Given the description of an element on the screen output the (x, y) to click on. 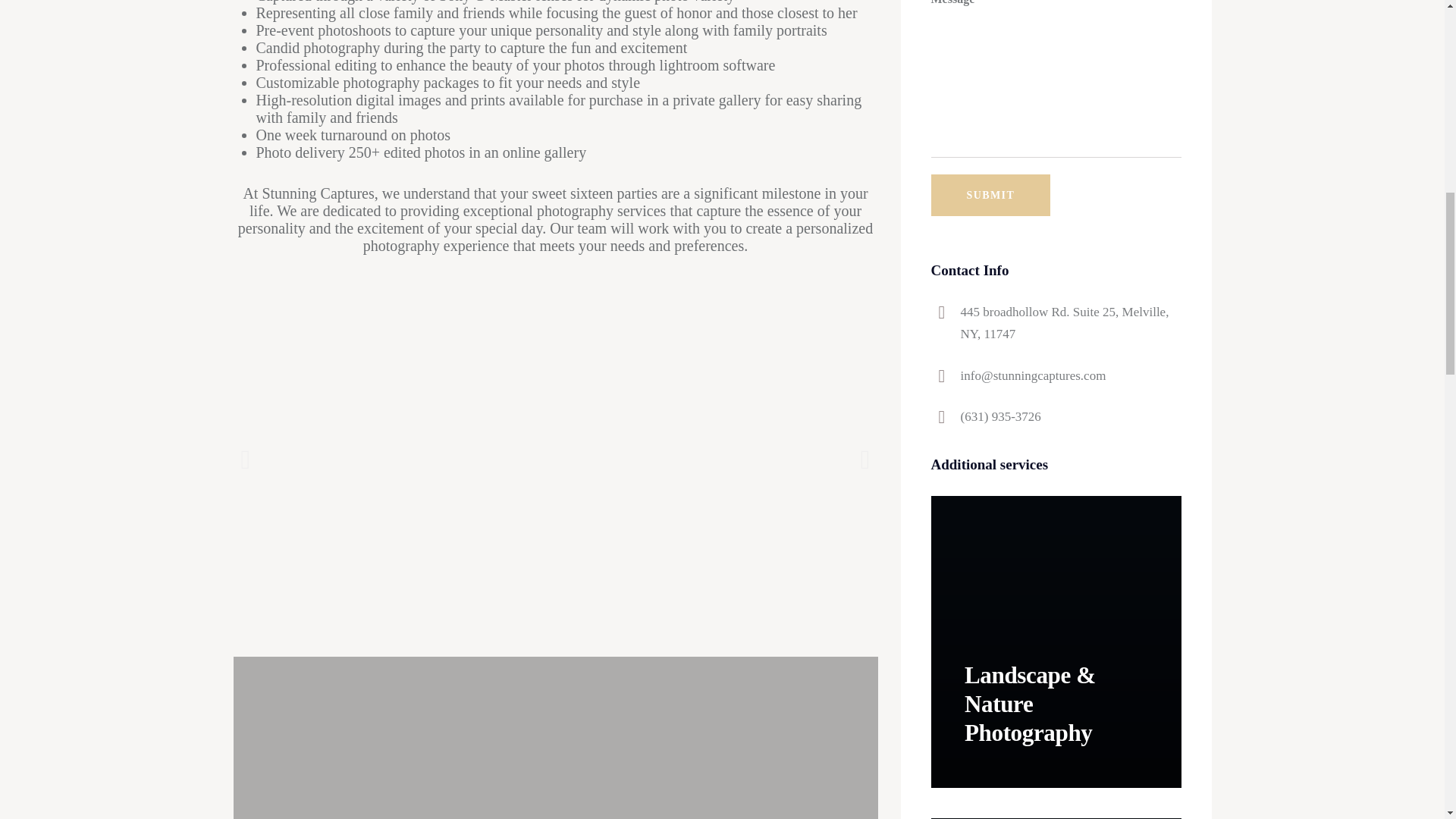
Submit (991, 195)
